Given the description of an element on the screen output the (x, y) to click on. 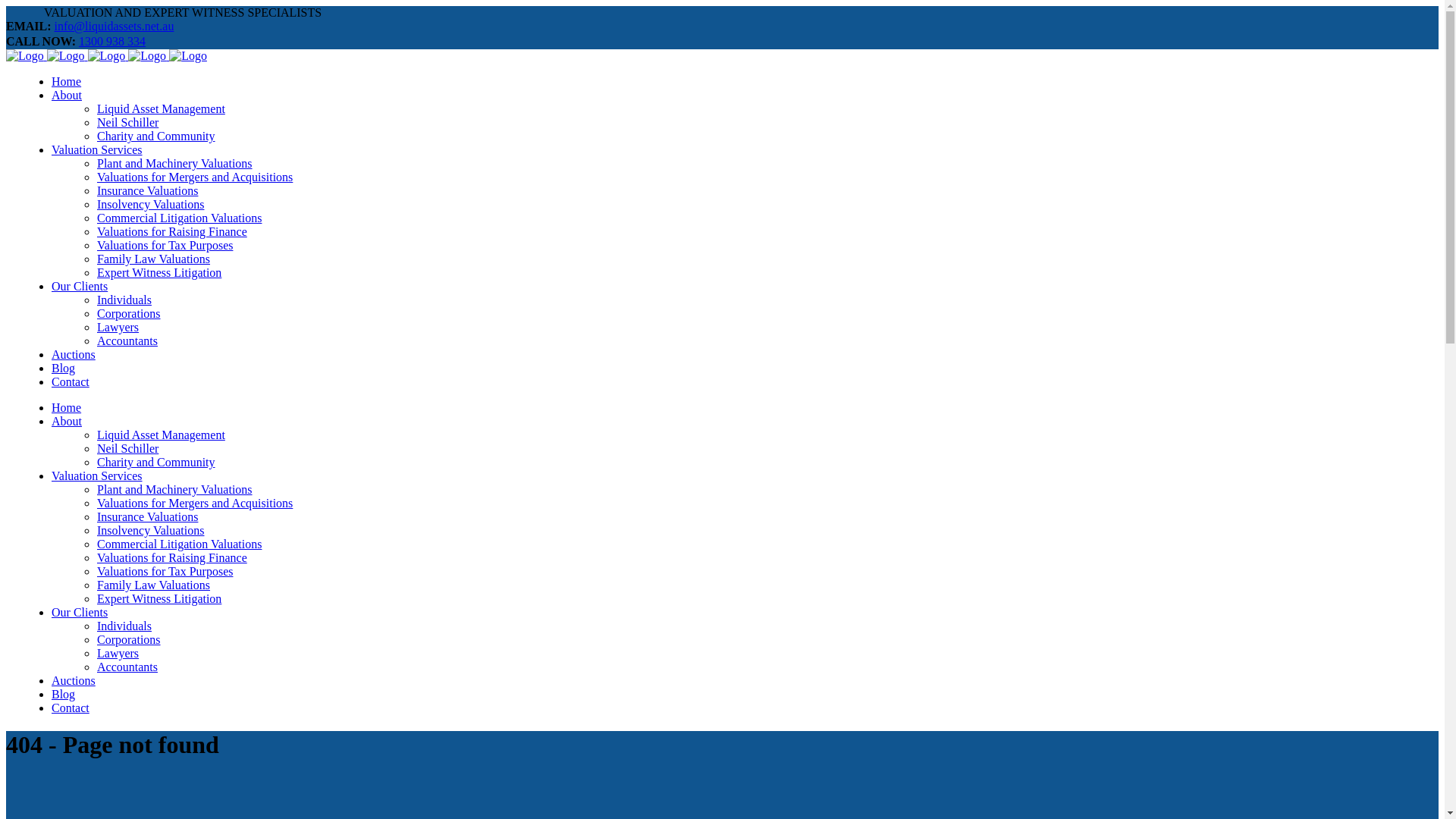
Liquid Asset Management Element type: text (161, 108)
Individuals Element type: text (124, 625)
Valuations for Tax Purposes Element type: text (164, 244)
Valuations for Mergers and Acquisitions Element type: text (194, 176)
Home Element type: text (66, 81)
Insurance Valuations Element type: text (147, 516)
Valuations for Raising Finance Element type: text (172, 231)
Family Law Valuations Element type: text (153, 584)
About Element type: text (66, 420)
Corporations Element type: text (128, 313)
Valuations for Tax Purposes Element type: text (164, 570)
Valuations for Mergers and Acquisitions Element type: text (194, 502)
Commercial Litigation Valuations Element type: text (179, 543)
Auctions Element type: text (73, 680)
Valuation Services Element type: text (96, 475)
Plant and Machinery Valuations Element type: text (174, 489)
Valuation Services Element type: text (96, 149)
Auctions Element type: text (73, 354)
Commercial Litigation Valuations Element type: text (179, 217)
Blog Element type: text (63, 367)
info@liquidassets.net.au Element type: text (114, 25)
Neil Schiller Element type: text (127, 122)
Expert Witness Litigation Element type: text (159, 598)
Expert Witness Litigation Element type: text (159, 272)
Family Law Valuations Element type: text (153, 258)
Contact Element type: text (70, 381)
Blog Element type: text (63, 693)
Valuations for Raising Finance Element type: text (172, 557)
Contact Element type: text (70, 707)
Accountants Element type: text (127, 340)
Lawyers Element type: text (117, 326)
Insurance Valuations Element type: text (147, 190)
Charity and Community Element type: text (156, 135)
Insolvency Valuations Element type: text (150, 530)
1300 938 334 Element type: text (111, 40)
Accountants Element type: text (127, 666)
Corporations Element type: text (128, 639)
Our Clients Element type: text (79, 611)
Plant and Machinery Valuations Element type: text (174, 162)
Neil Schiller Element type: text (127, 448)
Individuals Element type: text (124, 299)
Lawyers Element type: text (117, 652)
Liquid Asset Management Element type: text (161, 434)
Charity and Community Element type: text (156, 461)
About Element type: text (66, 94)
Our Clients Element type: text (79, 285)
Insolvency Valuations Element type: text (150, 203)
Home Element type: text (66, 407)
